Given the description of an element on the screen output the (x, y) to click on. 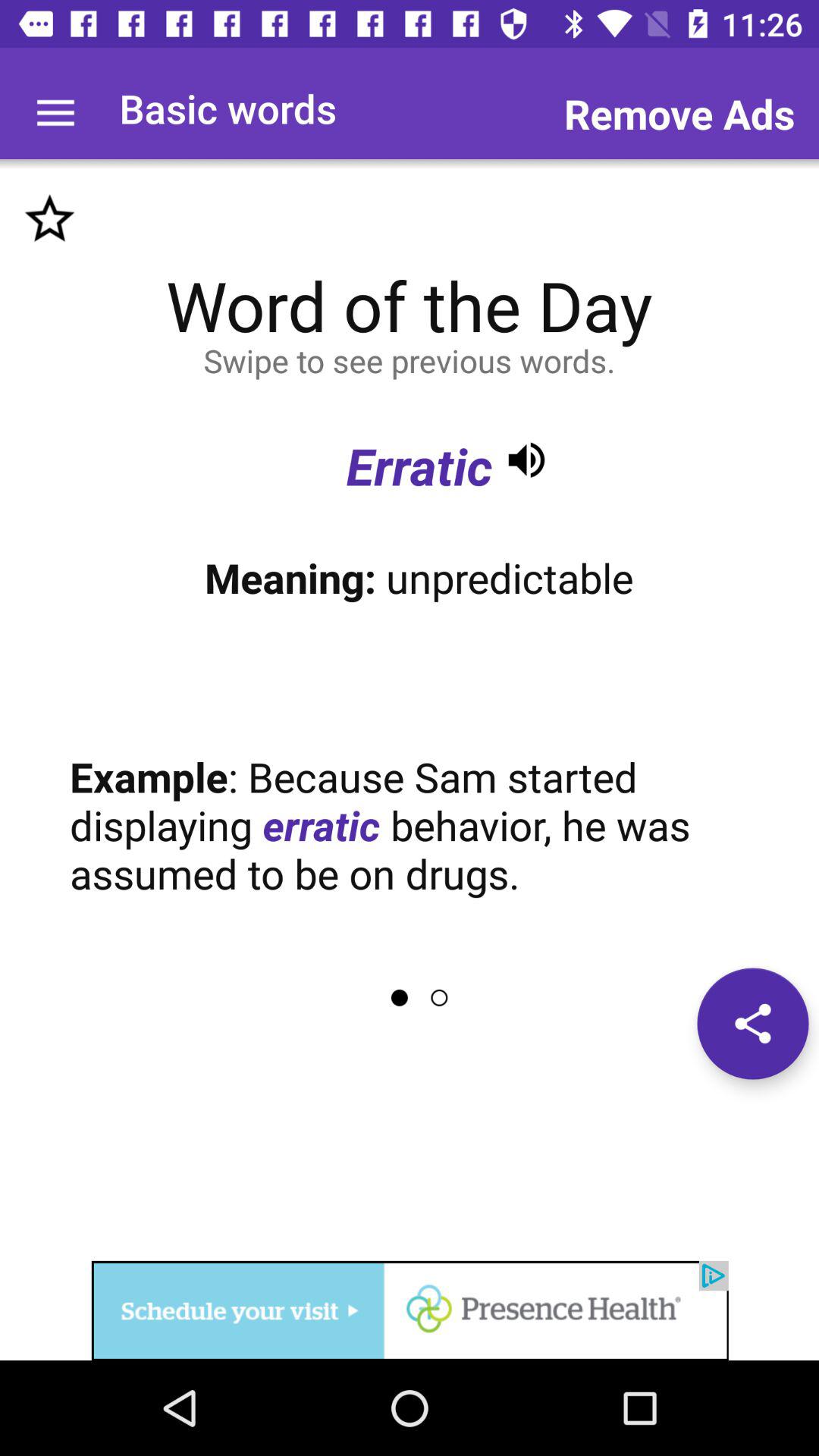
listen (526, 460)
